Given the description of an element on the screen output the (x, y) to click on. 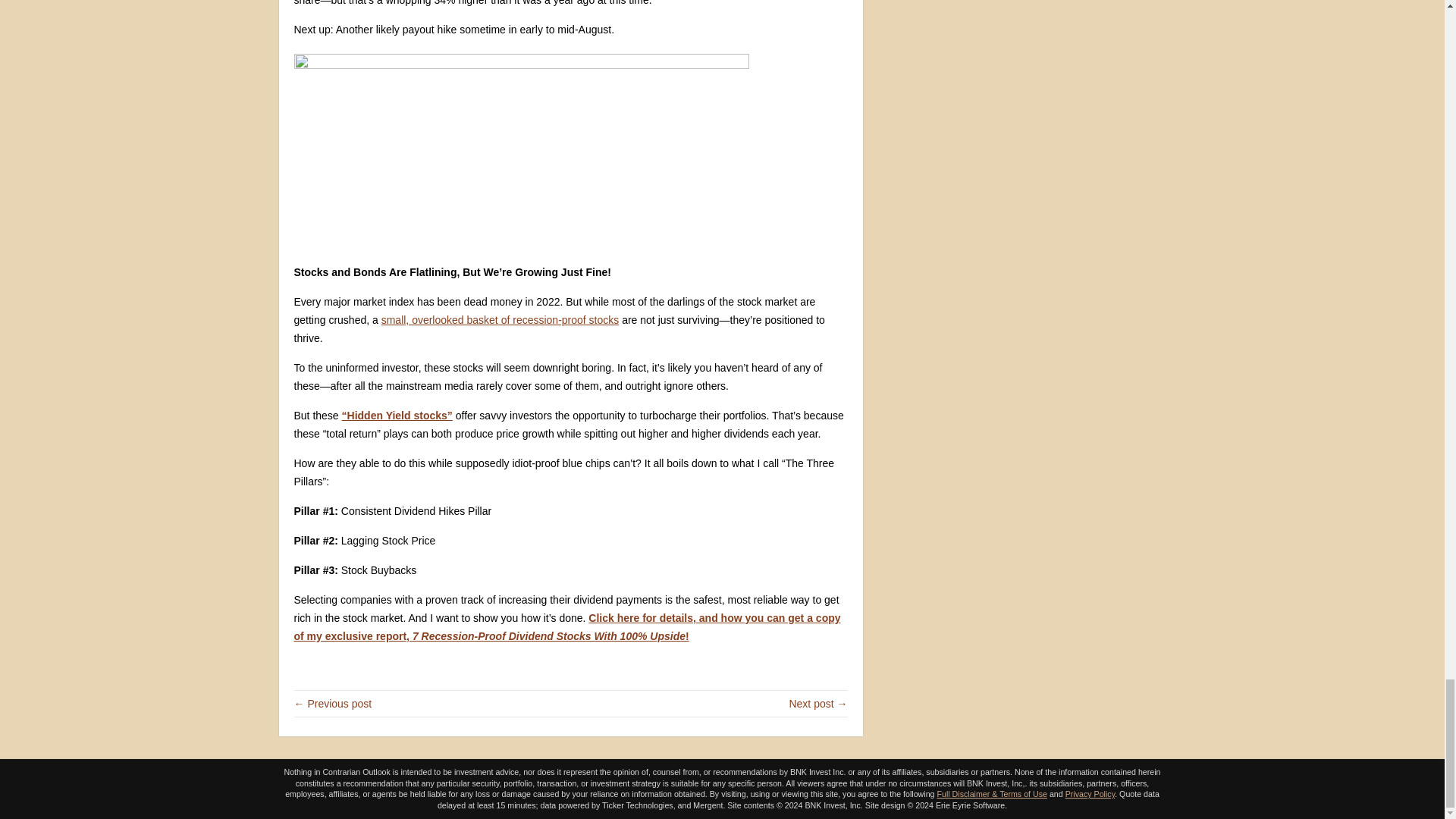
small, overlooked basket of recession-proof stocks (500, 319)
Privacy Policy (1090, 793)
